Given the description of an element on the screen output the (x, y) to click on. 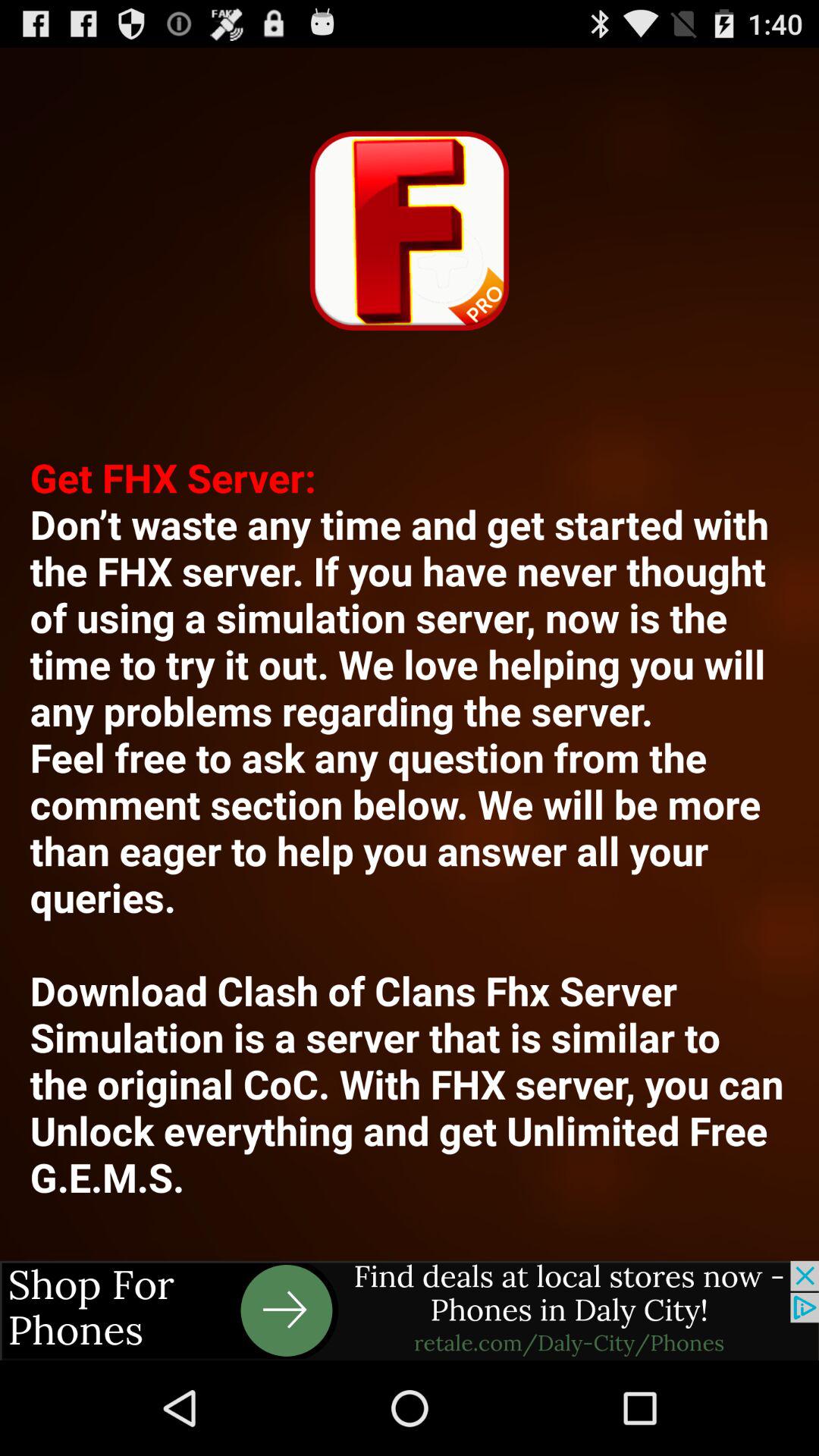
open advertisement (409, 1310)
